Given the description of an element on the screen output the (x, y) to click on. 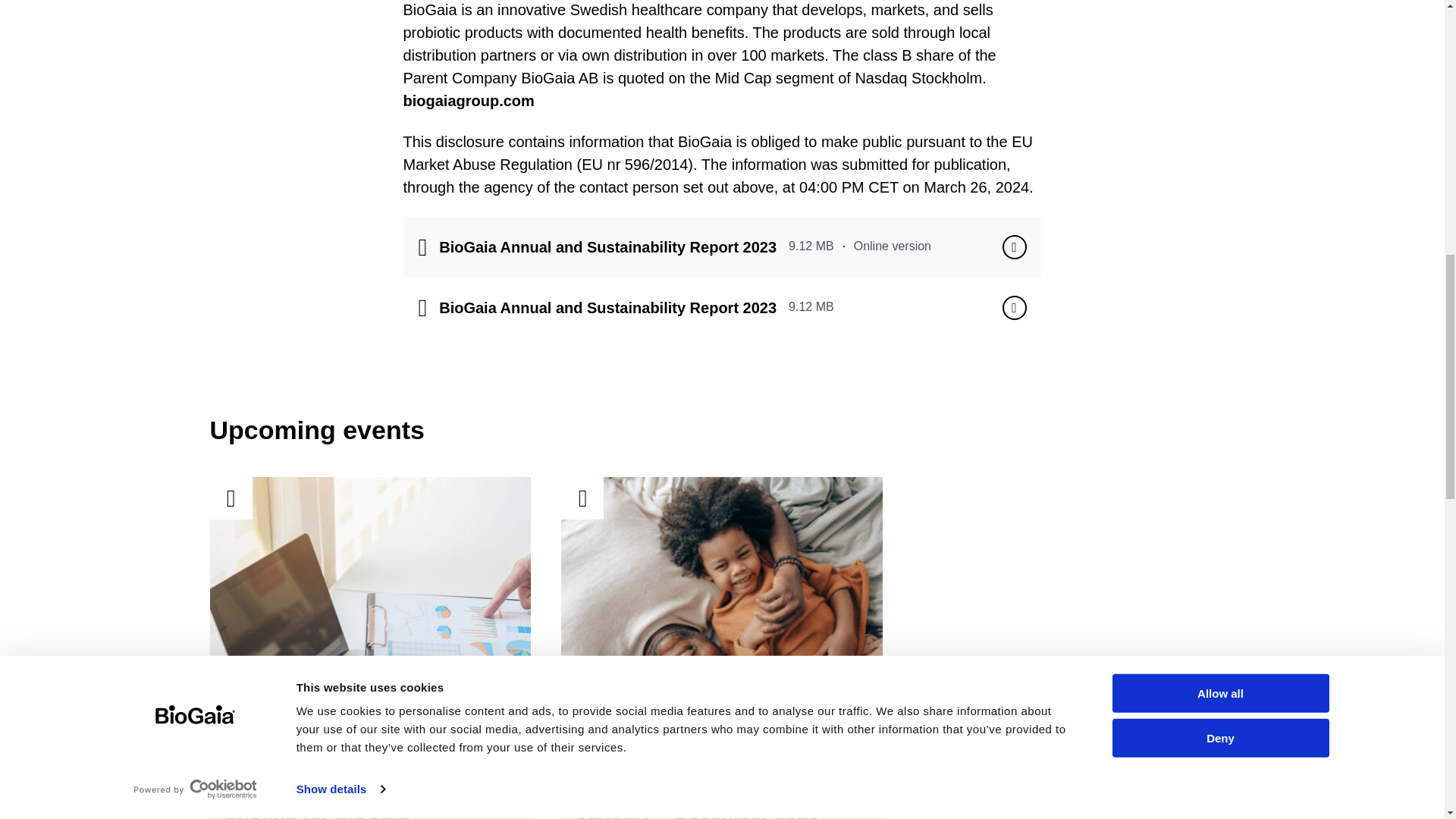
BioGaia Annual and Sustainability Report 2023 (1014, 247)
BioGaia Annual and Sustainability Report 2023 (1014, 307)
